Given the description of an element on the screen output the (x, y) to click on. 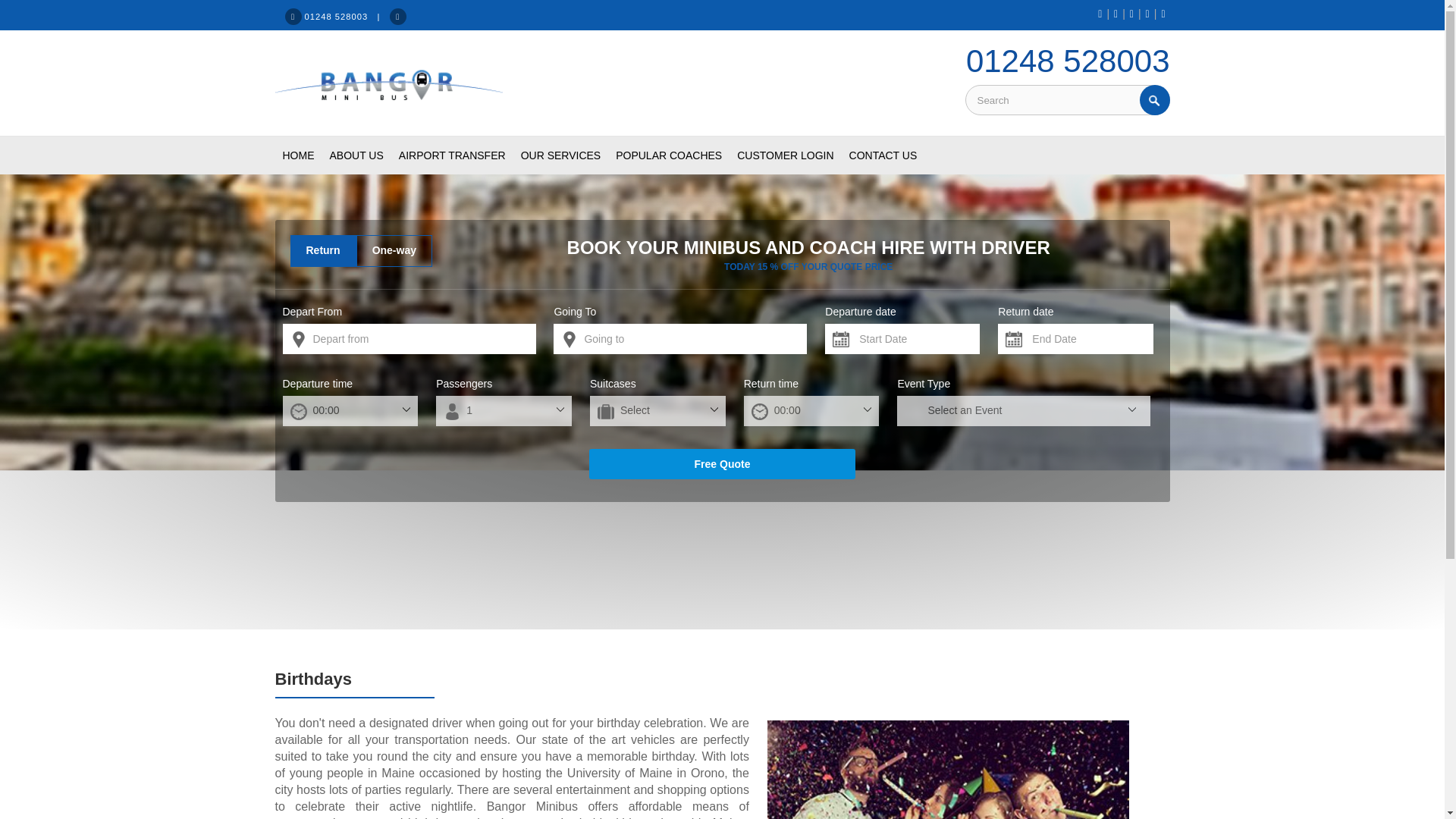
No. of People (503, 410)
POPULAR COACHES (668, 155)
01248 528003 (1068, 60)
Start Date (902, 338)
CUSTOMER LOGIN (785, 155)
CONTACT US (882, 155)
OUR SERVICES (560, 155)
Free Quote (722, 463)
ABOUT US (355, 155)
End Date (1075, 338)
